Given the description of an element on the screen output the (x, y) to click on. 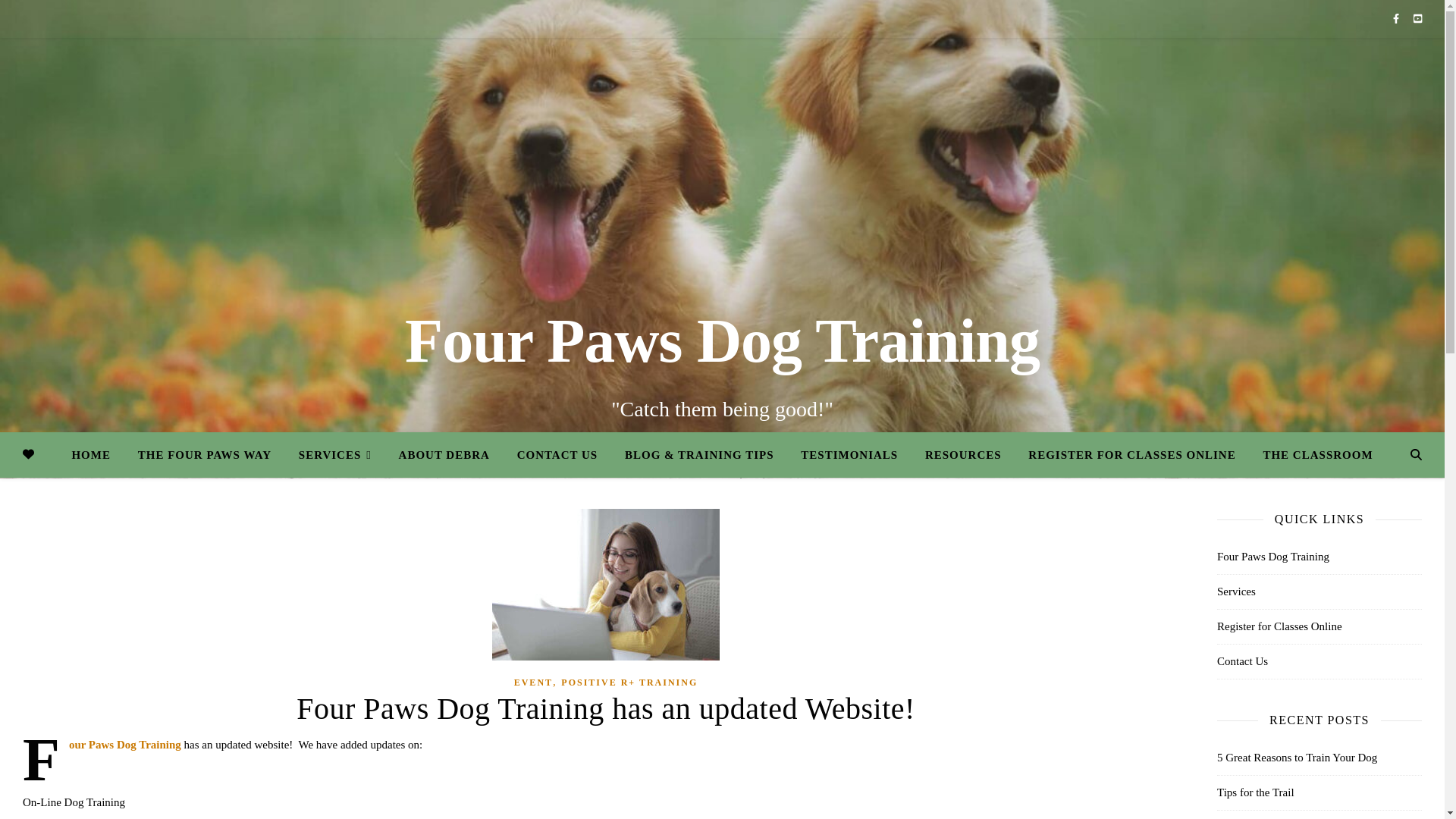
Four Paws Dog Training (721, 340)
SERVICES (335, 454)
ABOUT DEBRA (444, 454)
RESOURCES (962, 454)
THE FOUR PAWS WAY (204, 454)
REGISTER FOR CLASSES ONLINE (1131, 454)
THE CLASSROOM (1311, 454)
TESTIMONIALS (849, 454)
CONTACT US (557, 454)
HOME (96, 454)
